Given the description of an element on the screen output the (x, y) to click on. 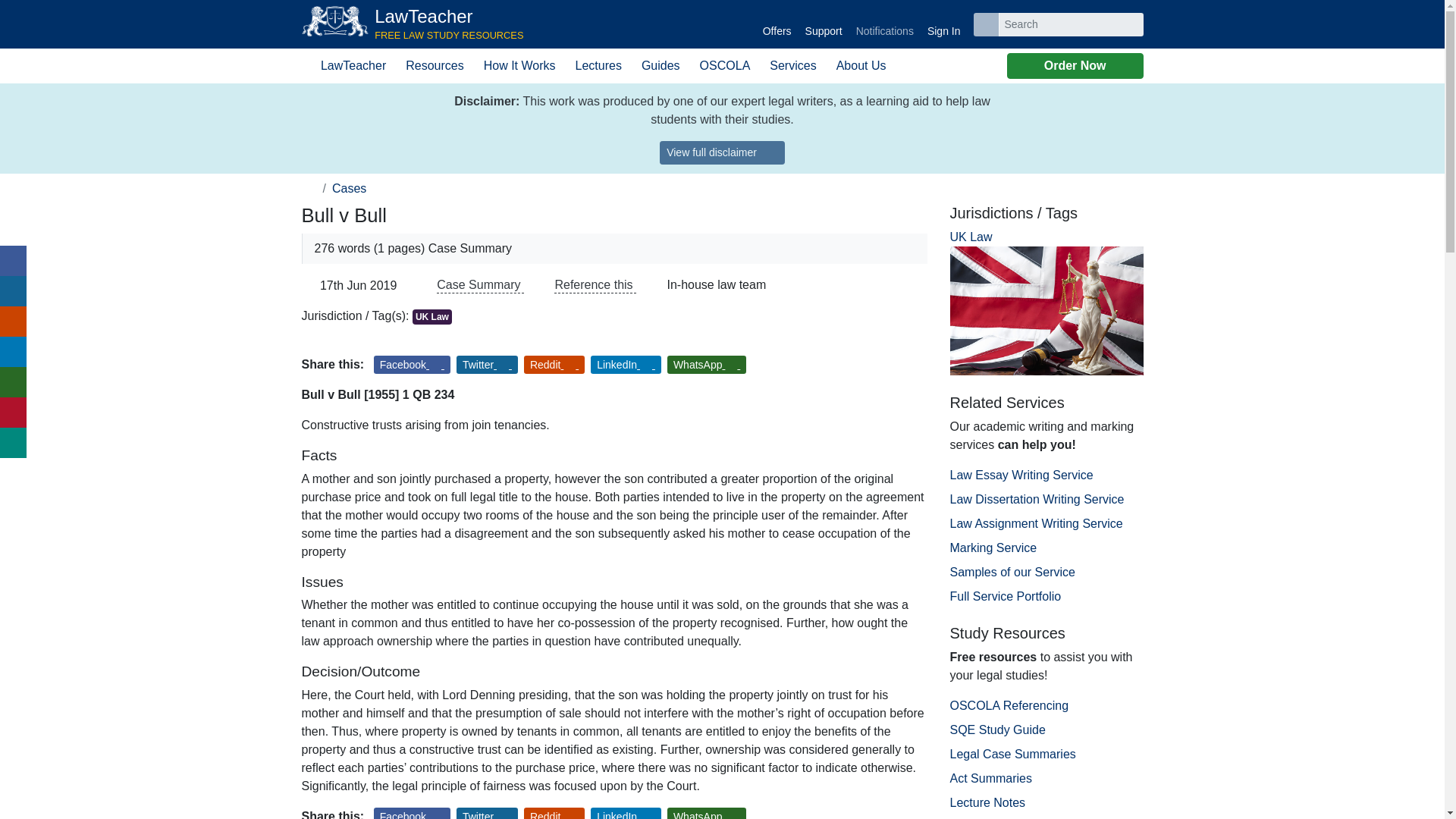
Go to the LawTeacher homepage (412, 23)
Sign In (944, 23)
View full disclaimer (721, 152)
Offers (412, 23)
Notifications (776, 23)
homepage link (884, 23)
Support (309, 187)
